Given the description of an element on the screen output the (x, y) to click on. 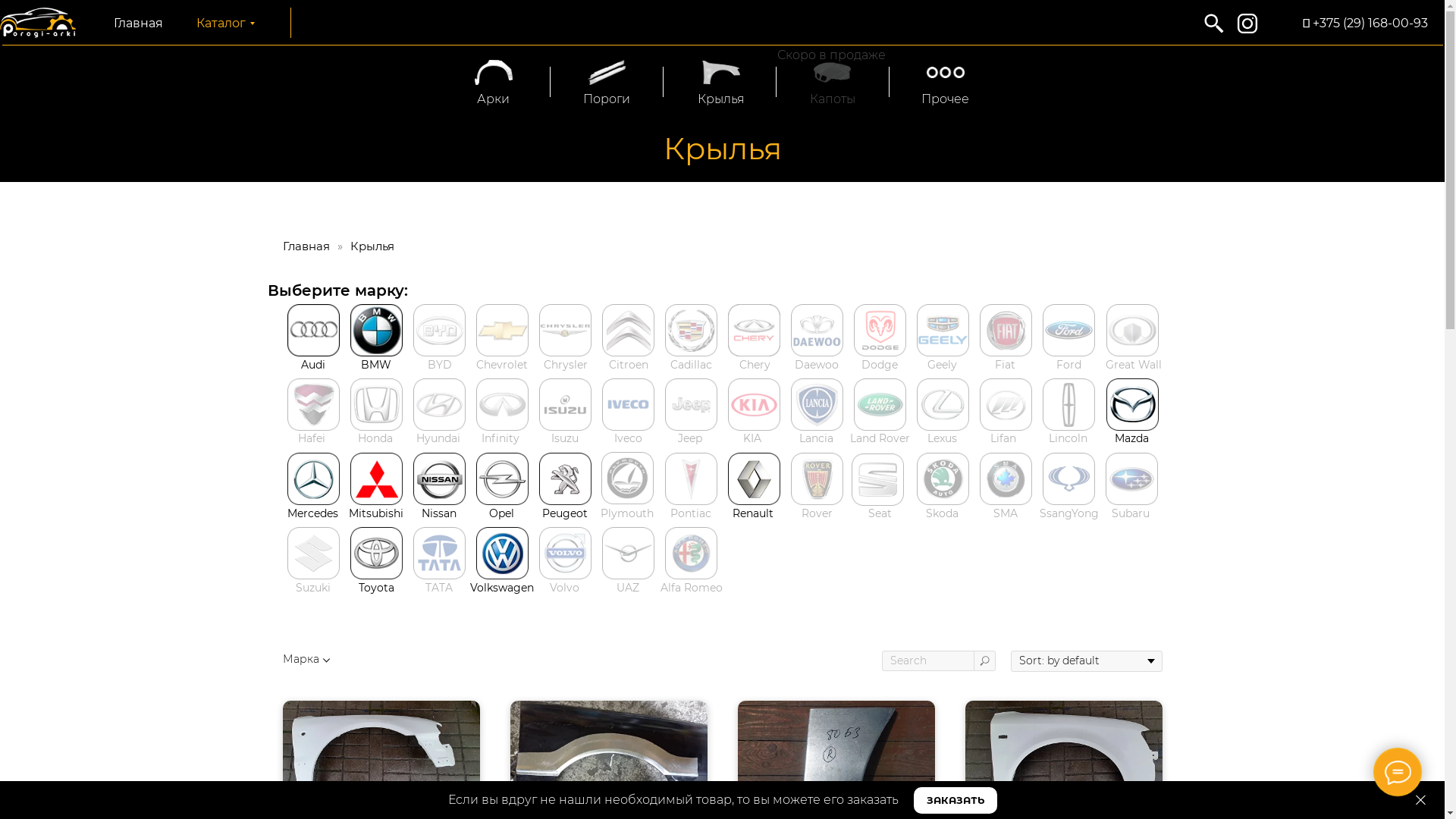
Lincoln Element type: text (1067, 438)
Jeep Element type: text (689, 438)
Subaru Element type: text (1130, 513)
Audi Element type: text (312, 364)
Nissan Element type: text (438, 513)
Infinity Element type: text (499, 438)
Skoda Element type: text (941, 513)
Close Element type: text (1420, 800)
Hafei Element type: text (310, 438)
Chrysler Element type: text (564, 364)
Volkswagen Element type: text (501, 587)
BYD Element type: text (439, 364)
Lifan Element type: text (1003, 438)
Isuzu Element type: text (563, 438)
Seat Element type: text (879, 513)
Great Wall Element type: text (1133, 364)
Peugeot Element type: text (563, 513)
Alfa Romeo Element type: text (690, 587)
Land Rover Element type: text (879, 438)
Mazda Element type: text (1131, 438)
Daewoo Element type: text (816, 364)
Ford Element type: text (1067, 364)
Hyundai Element type: text (437, 438)
Dodge Element type: text (879, 364)
Chery Element type: text (753, 364)
Mitsubishi Element type: text (375, 513)
Cadillac Element type: text (691, 364)
Volvo Element type: text (563, 587)
Plymouth Element type: text (626, 513)
Pontiac Element type: text (690, 513)
Opel Element type: text (500, 513)
Renault Element type: text (752, 513)
Lancia Element type: text (816, 438)
Lexus Element type: text (941, 438)
TATA Element type: text (437, 587)
Chevrolet Element type: text (501, 364)
Geely Element type: text (941, 364)
UAZ Element type: text (626, 587)
KIA Element type: text (752, 438)
Toyota Element type: text (375, 587)
Mercedes Element type: text (311, 513)
Suzuki Element type: text (312, 587)
Rover Element type: text (815, 513)
BMW Element type: text (375, 364)
Citroen Element type: text (627, 364)
Iveco Element type: text (628, 438)
SsangYong Element type: text (1068, 513)
SMA Element type: text (1005, 513)
Honda Element type: text (374, 438)
Fiat Element type: text (1004, 364)
